Given the description of an element on the screen output the (x, y) to click on. 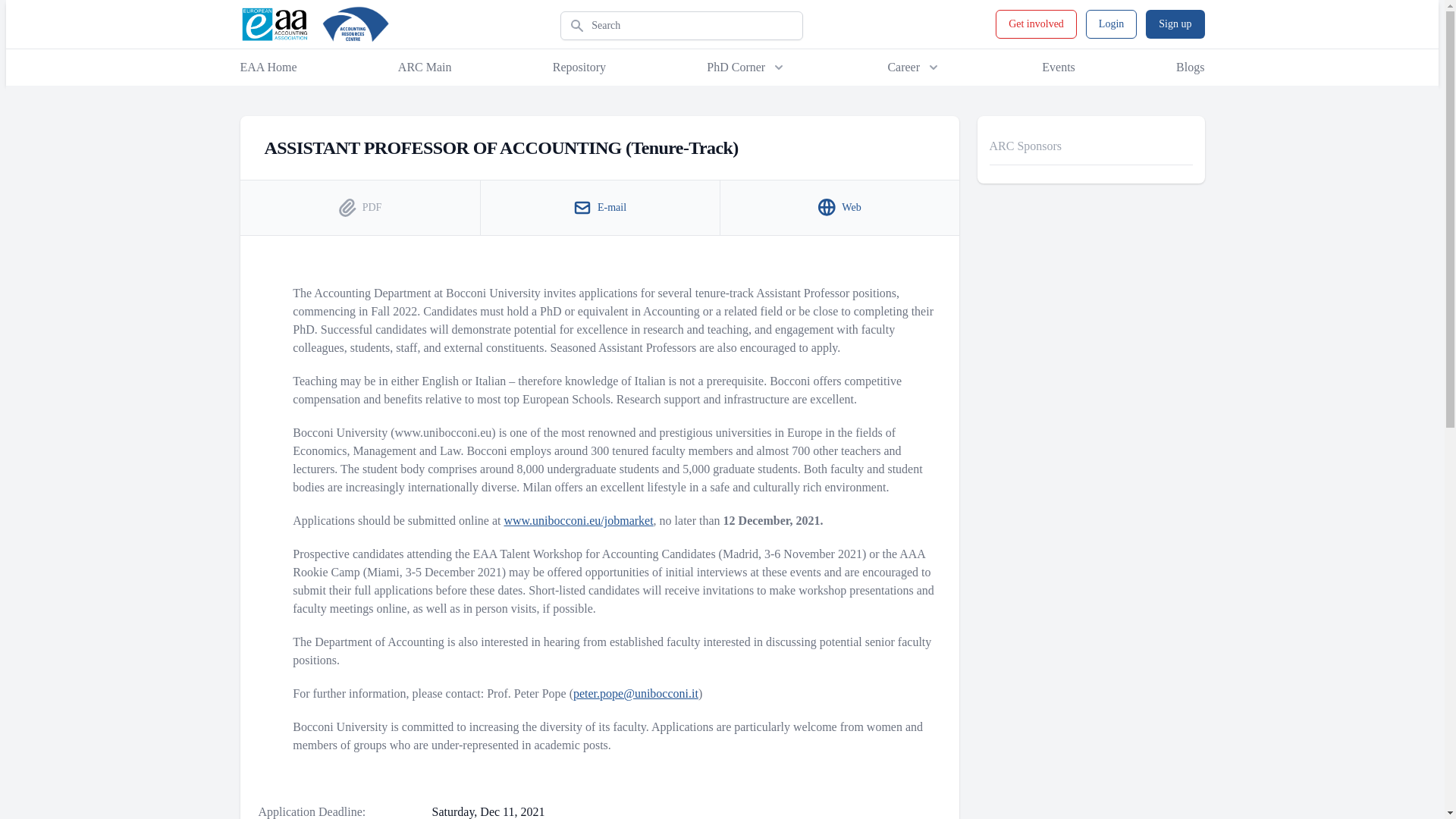
Blogs (1190, 67)
Events (1058, 67)
E-mail (599, 208)
Repository (579, 67)
Career (913, 67)
PhD Corner (746, 67)
PDF (359, 208)
ARC Main (424, 67)
Sign up (1174, 23)
EAA Home (268, 67)
